Given the description of an element on the screen output the (x, y) to click on. 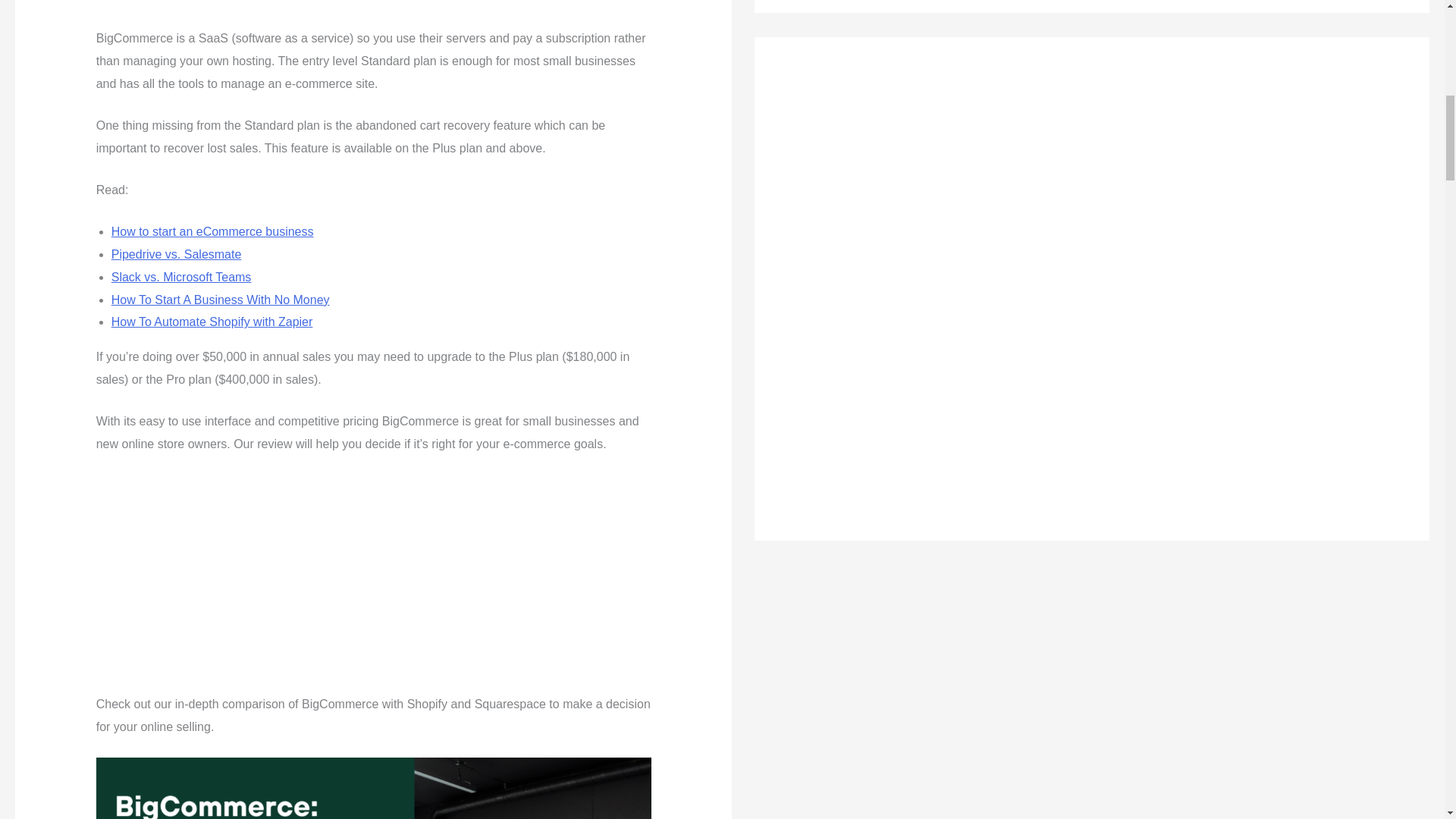
Advertisement (373, 10)
Advertisement (373, 581)
How To Start A Business With No Money (221, 299)
Pipedrive vs. Salesmate (176, 254)
How To Automate Shopify with Zapier (212, 321)
Slack vs. Microsoft Teams (181, 277)
How to start an eCommerce business (213, 231)
